Given the description of an element on the screen output the (x, y) to click on. 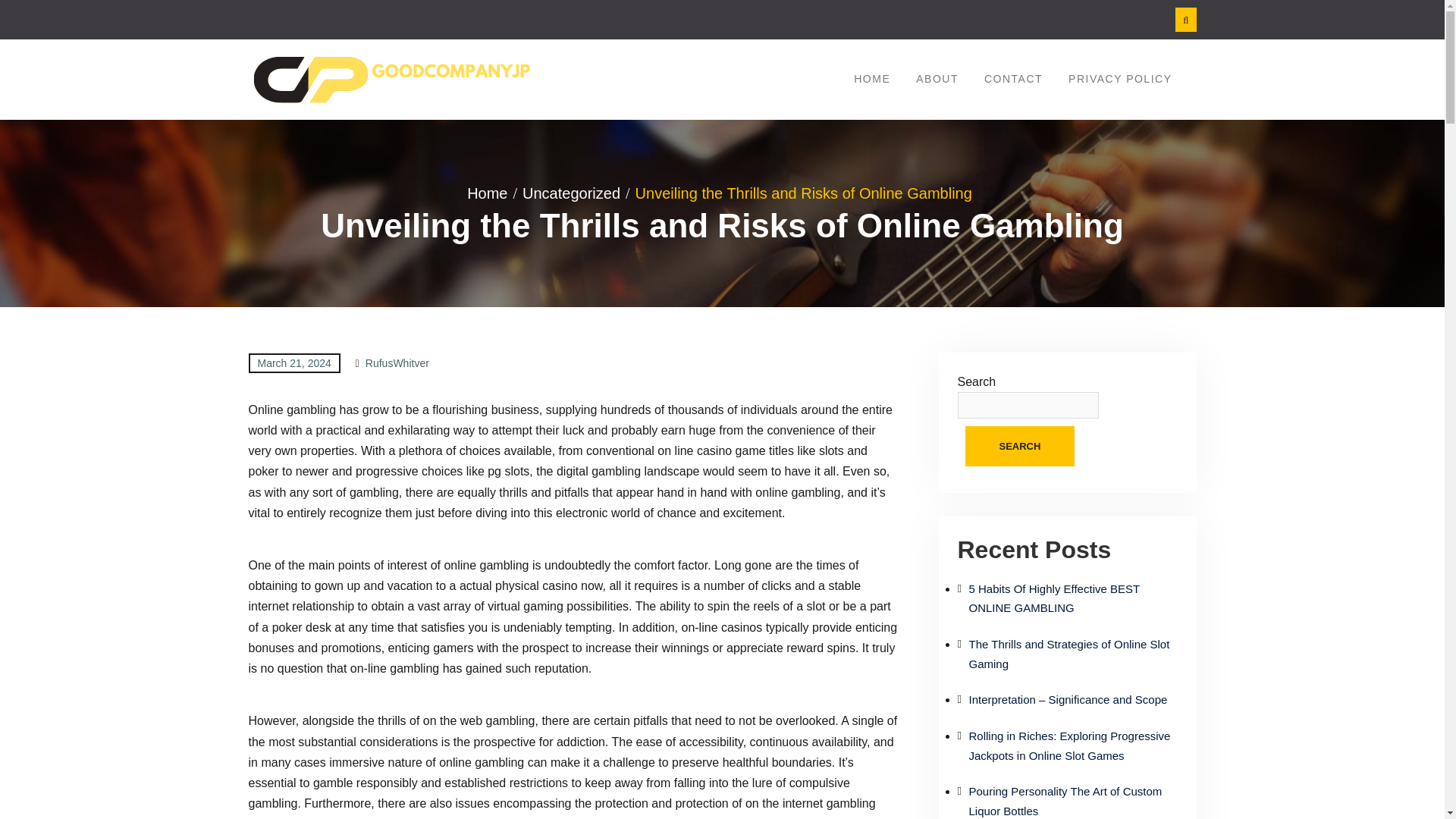
PRIVACY POLICY (1119, 79)
SEARCH (1018, 445)
Home (491, 193)
CONTACT (1012, 79)
Uncategorized (576, 193)
5 Habits Of Highly Effective BEST ONLINE GAMBLING (1054, 598)
The Thrills and Strategies of Online Slot Gaming (1069, 654)
March 21, 2024 (294, 363)
RufusWhitver (397, 363)
Pouring Personality The Art of Custom Liquor Bottles (1065, 800)
